Given the description of an element on the screen output the (x, y) to click on. 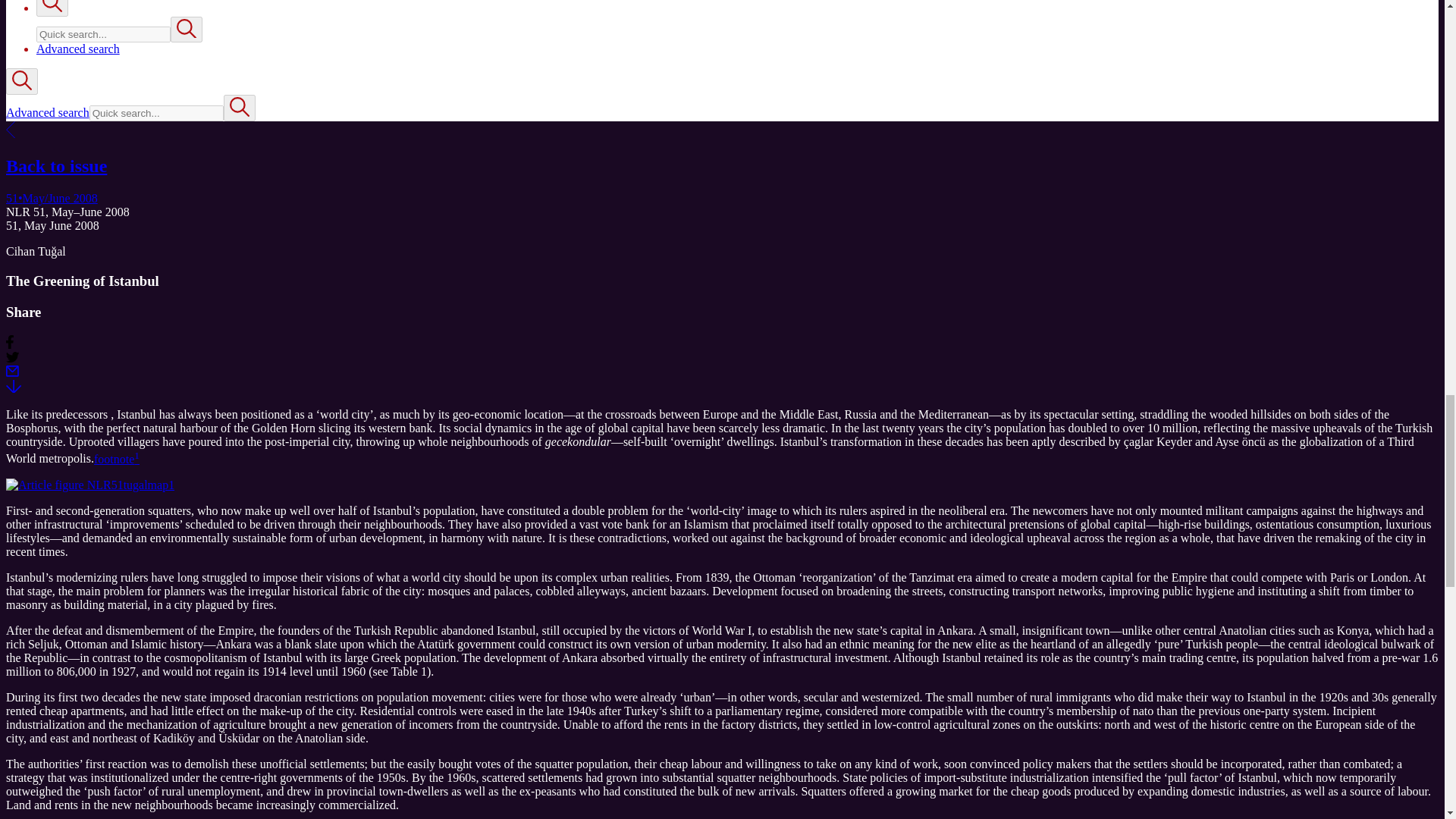
footnote1 (116, 459)
Advanced search (46, 112)
Advanced search (77, 48)
